Given the description of an element on the screen output the (x, y) to click on. 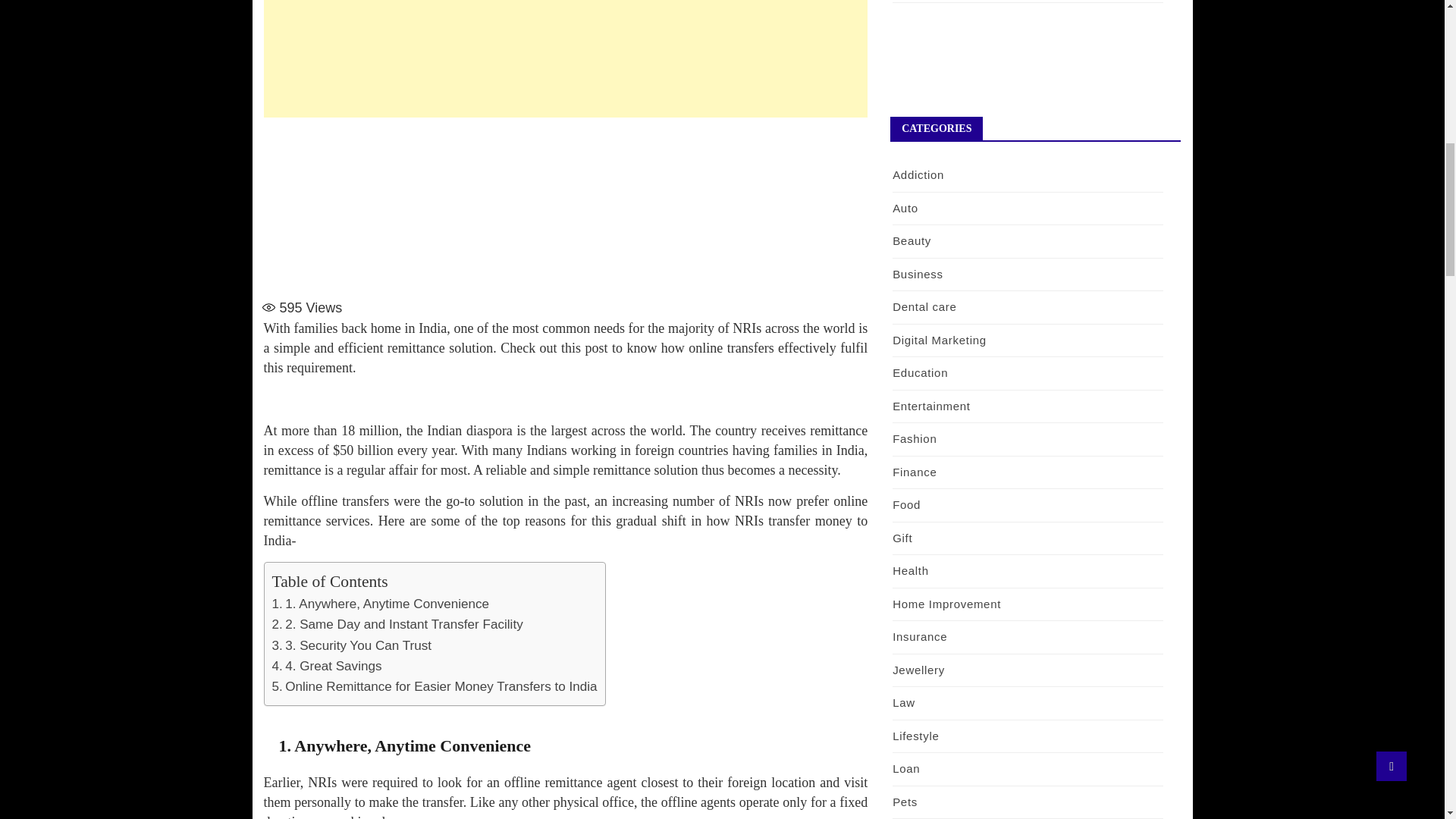
2. Same Day and Instant Transfer Facility (396, 624)
4. Great Savings (325, 666)
1. Anywhere, Anytime Convenience (379, 603)
3. Security You Can Trust (350, 645)
Online Remittance for Easier Money Transfers to India (433, 686)
1. Anywhere, Anytime Convenience (379, 603)
Advertisement (565, 204)
